Given the description of an element on the screen output the (x, y) to click on. 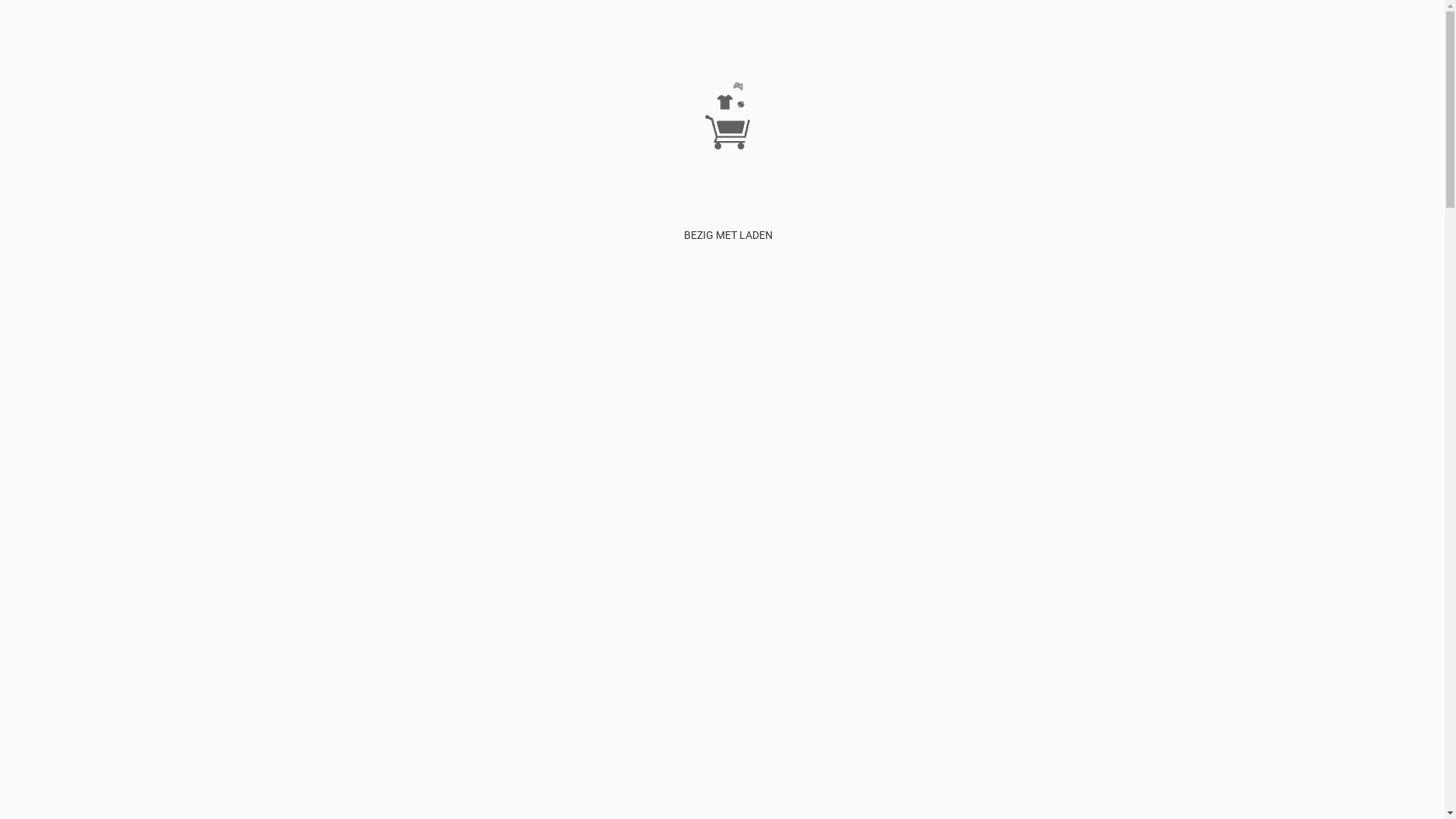
Avertissement Element type: text (903, 56)
Details Element type: text (15, 806)
Home Element type: text (767, 56)
A-propos Element type: text (845, 56)
Details Element type: text (15, 411)
Panier Element type: text (1017, 56)
Mon Compte Element type: text (969, 56)
Details Element type: text (15, 557)
Checkout Element type: text (1057, 56)
Details Element type: text (15, 681)
Details Element type: text (15, 266)
Explorer Element type: text (802, 56)
